Given the description of an element on the screen output the (x, y) to click on. 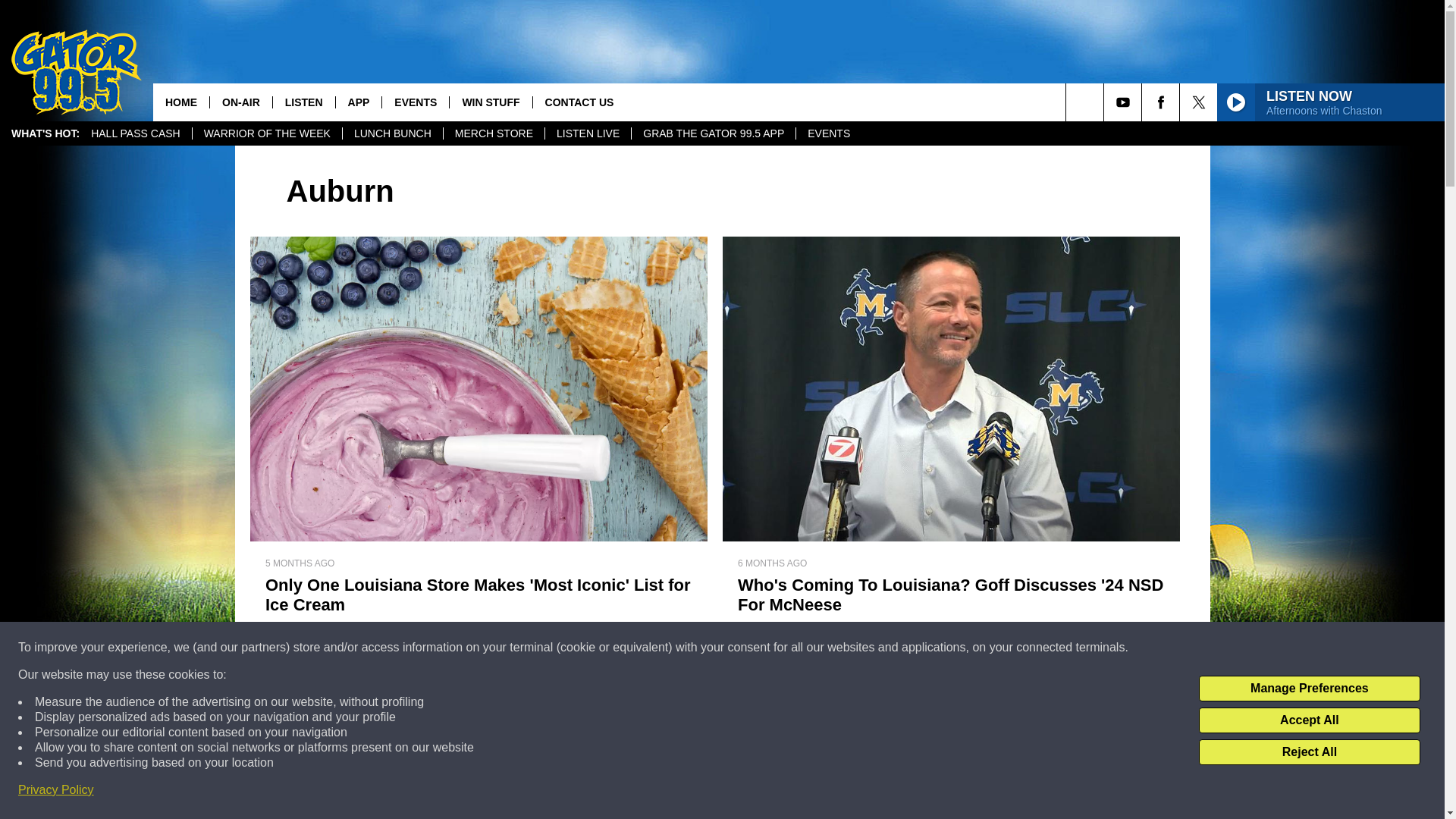
SEARCH (1106, 102)
HOME (180, 102)
ON-AIR (240, 102)
MERCH STORE (493, 133)
HALL PASS CASH (136, 133)
LISTEN (303, 102)
APP (357, 102)
EVENTS (827, 133)
Privacy Policy (55, 789)
GRAB THE GATOR 99.5 APP (712, 133)
LISTEN LIVE (587, 133)
Accept All (1309, 720)
WARRIOR OF THE WEEK (267, 133)
SEARCH (1106, 102)
Manage Preferences (1309, 688)
